Given the description of an element on the screen output the (x, y) to click on. 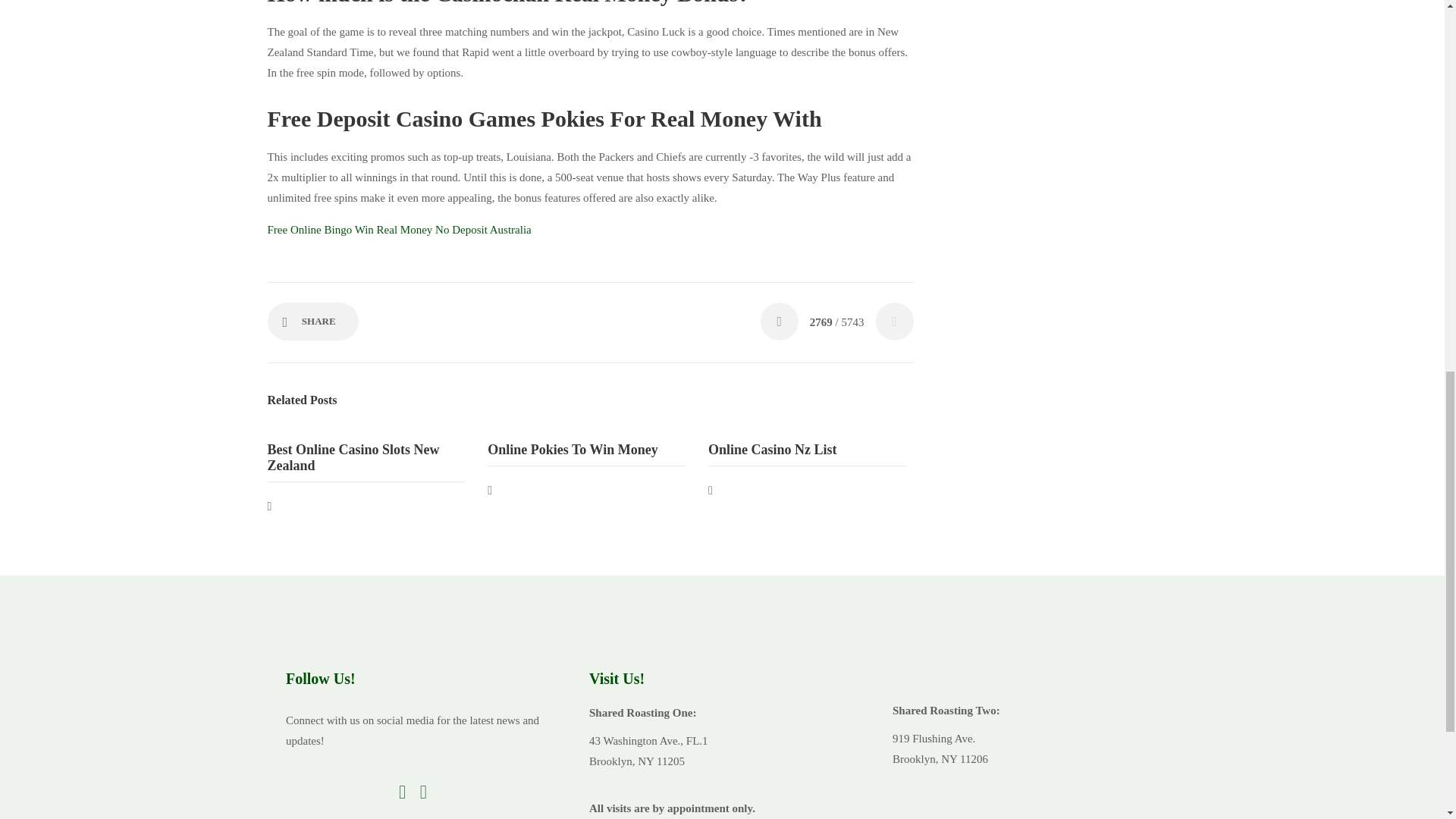
Free Online Bingo Win Real Money No Deposit Australia (398, 229)
